Given the description of an element on the screen output the (x, y) to click on. 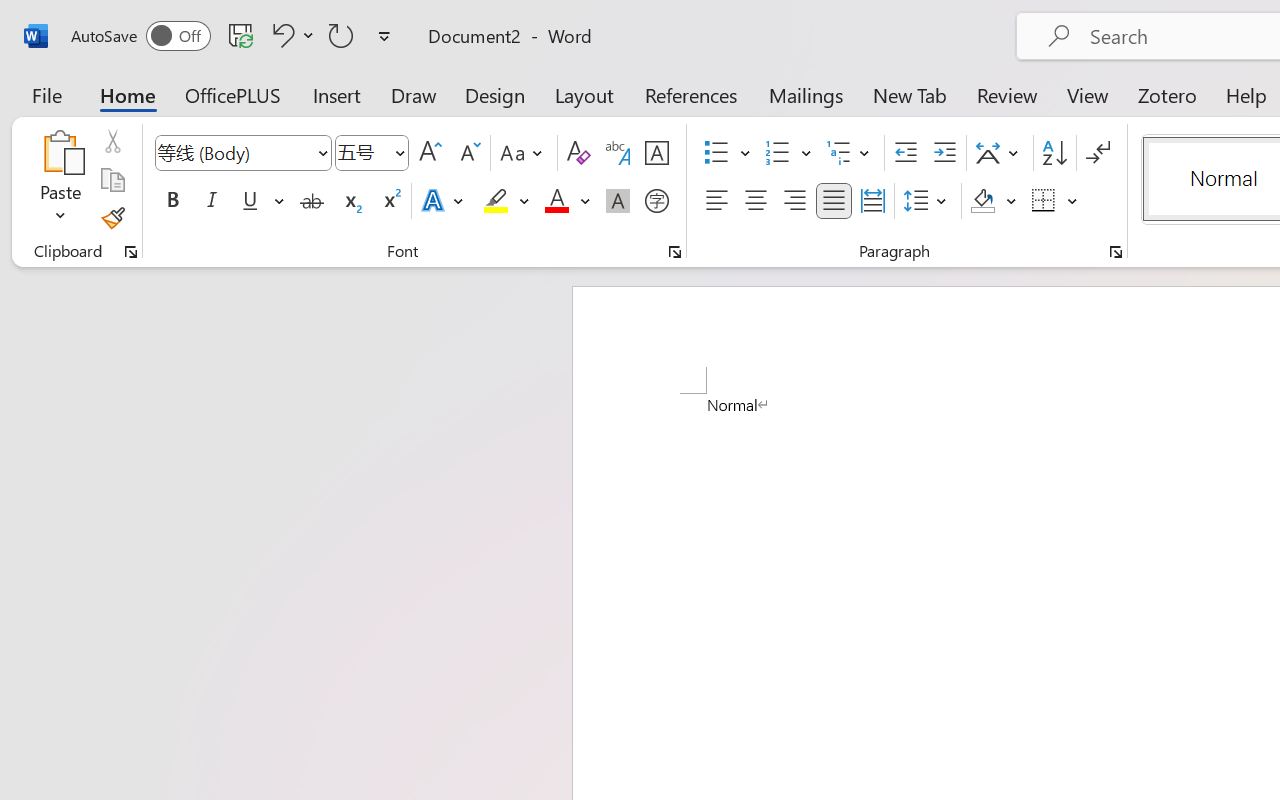
Strikethrough (312, 201)
Bullets (716, 153)
AutoSave (140, 35)
Mailings (806, 94)
Character Border (656, 153)
Asian Layout (1000, 153)
Borders (1055, 201)
Subscript (350, 201)
Character Shading (618, 201)
Undo Apply Quick Style (290, 35)
Multilevel List (850, 153)
Change Case (524, 153)
Office Clipboard... (131, 252)
Paragraph... (1115, 252)
